Given the description of an element on the screen output the (x, y) to click on. 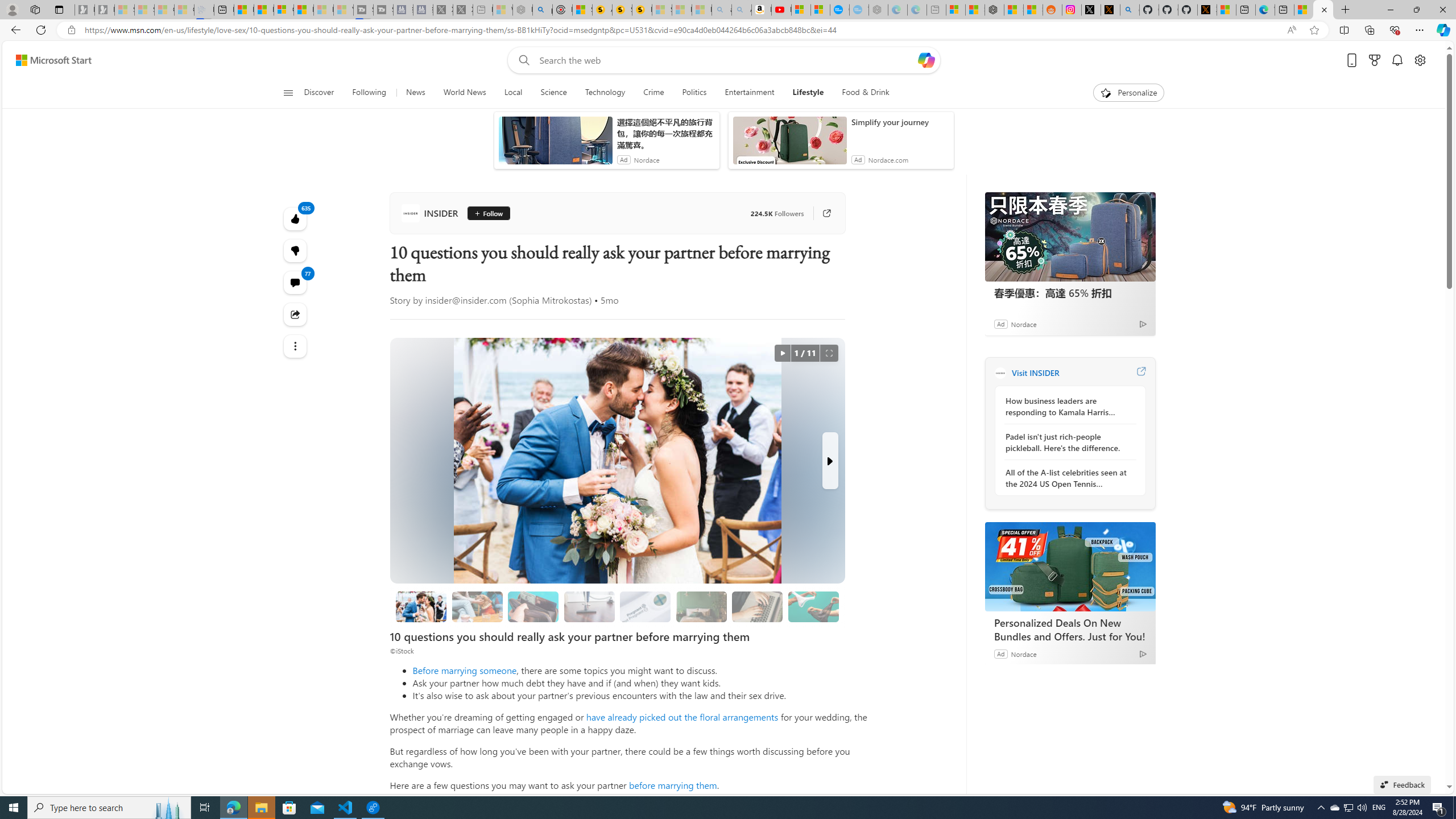
Next Slide (829, 460)
help.x.com | 524: A timeout occurred (1110, 9)
Personalize (1128, 92)
The most popular Google 'how to' searches - Sleeping (858, 9)
Lifestyle (807, 92)
